Given the description of an element on the screen output the (x, y) to click on. 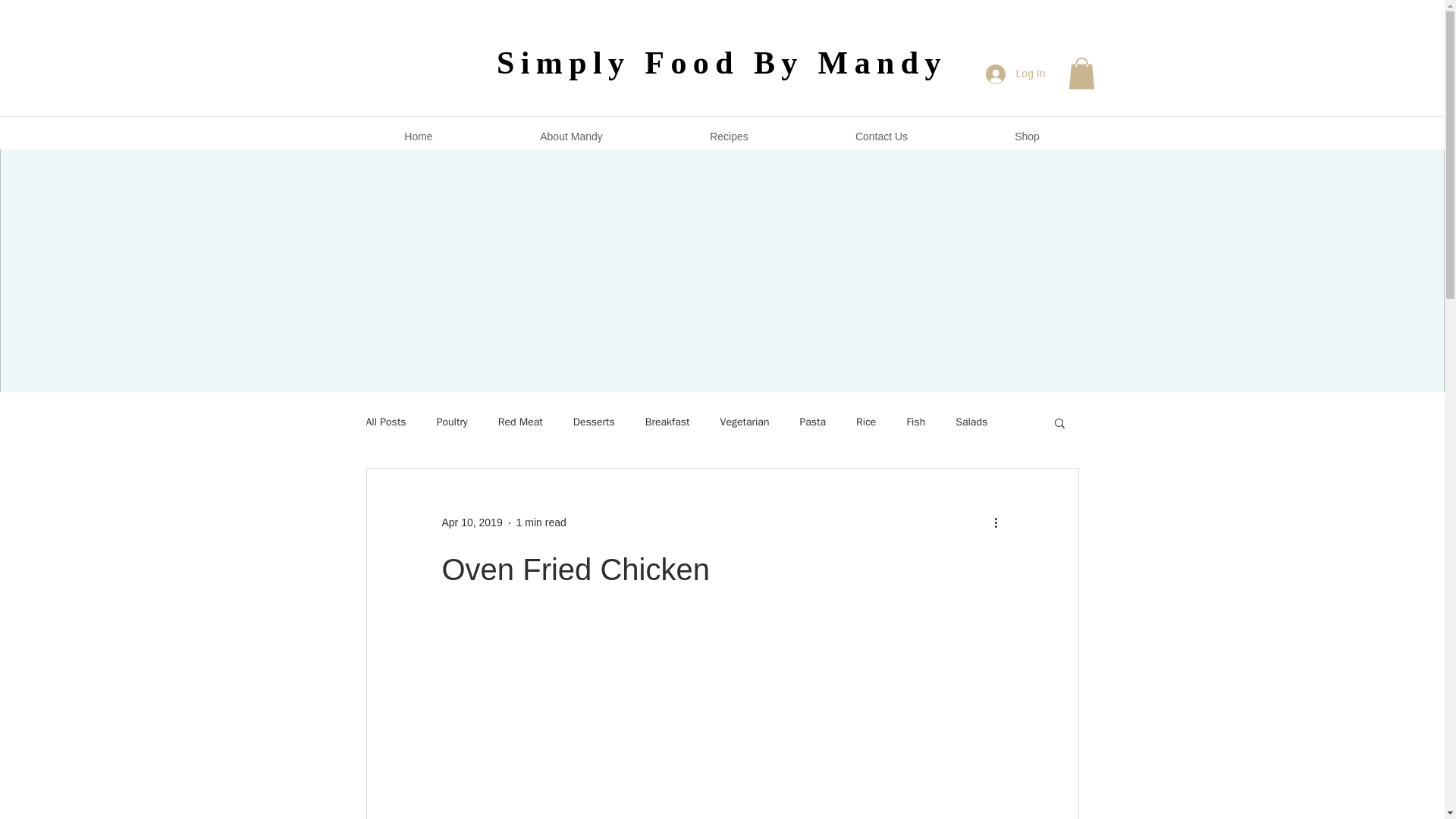
Log In (1016, 72)
1 min read (541, 522)
Recipes (729, 135)
Contact Us (881, 135)
Apr 10, 2019 (471, 522)
Home (418, 135)
Shop (1026, 135)
Poultry (451, 422)
Breakfast (667, 422)
Vegetarian (745, 422)
